Given the description of an element on the screen output the (x, y) to click on. 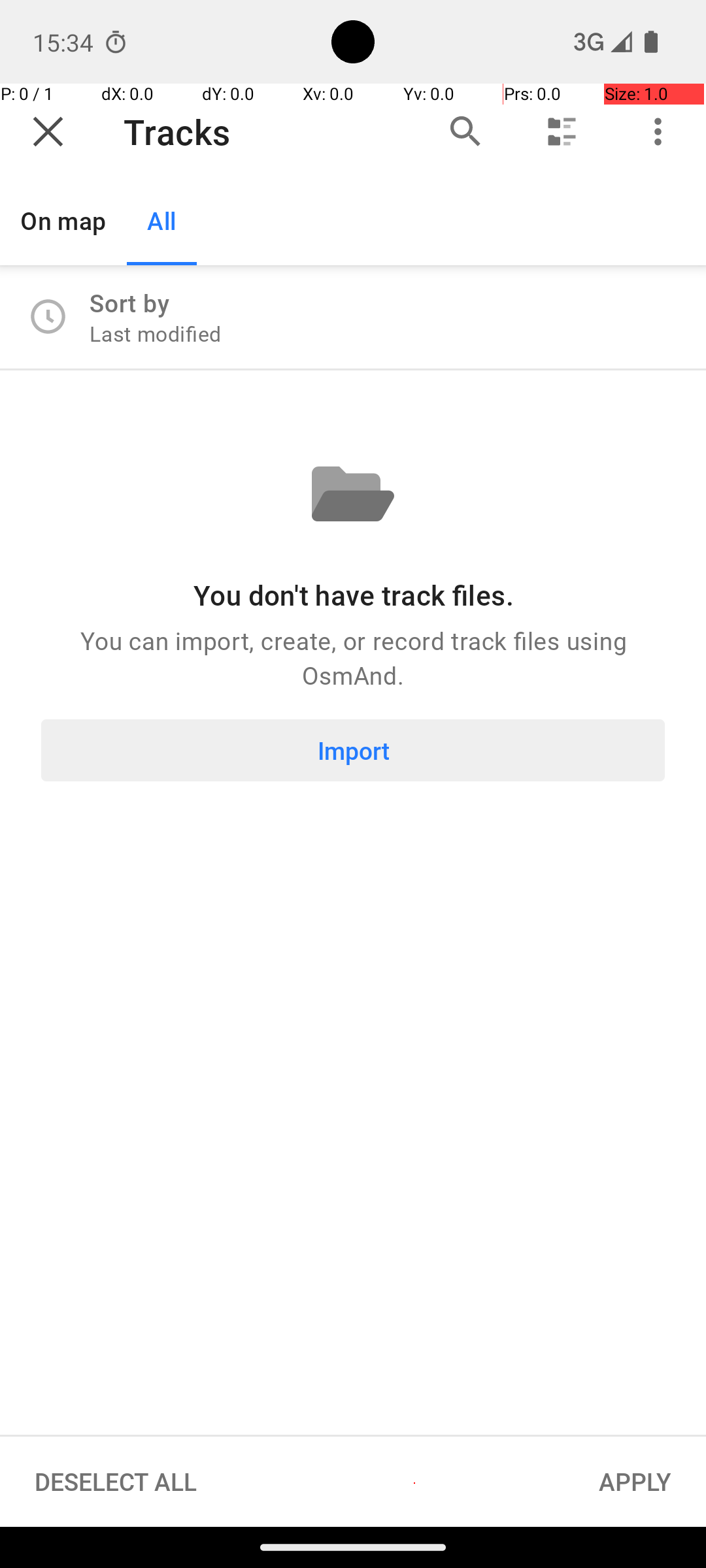
Switch folder Element type: android.widget.ImageButton (561, 131)
More actions Element type: android.widget.ImageButton (657, 131)
DESELECT ALL Element type: android.widget.TextView (115, 1481)
APPLY Element type: android.widget.TextView (634, 1481)
On map Element type: android.widget.TextView (63, 220)
All Element type: android.widget.TextView (161, 220)
Last modified Element type: android.widget.TextView (155, 333)
You don't have track files. Element type: android.widget.TextView (352, 594)
You can import, create, or record track files using OsmAnd. Element type: android.widget.TextView (352, 657)
Import Element type: android.widget.TextView (352, 750)
